Given the description of an element on the screen output the (x, y) to click on. 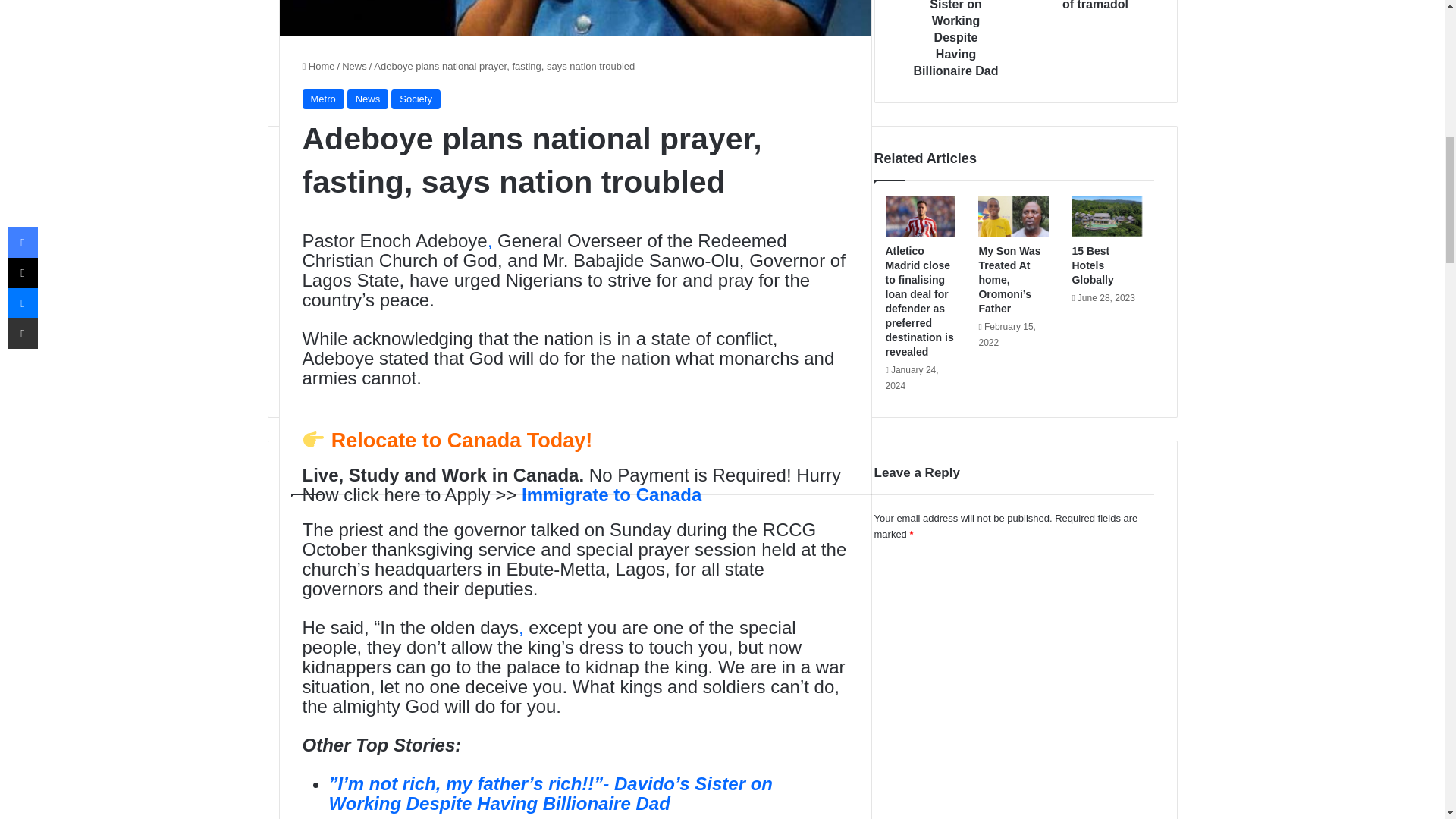
Infomation Guide Nigeria (522, 377)
News (354, 66)
News (367, 98)
Society (416, 98)
Home (317, 66)
Immigrate to Canada (611, 494)
Metro (322, 98)
